Given the description of an element on the screen output the (x, y) to click on. 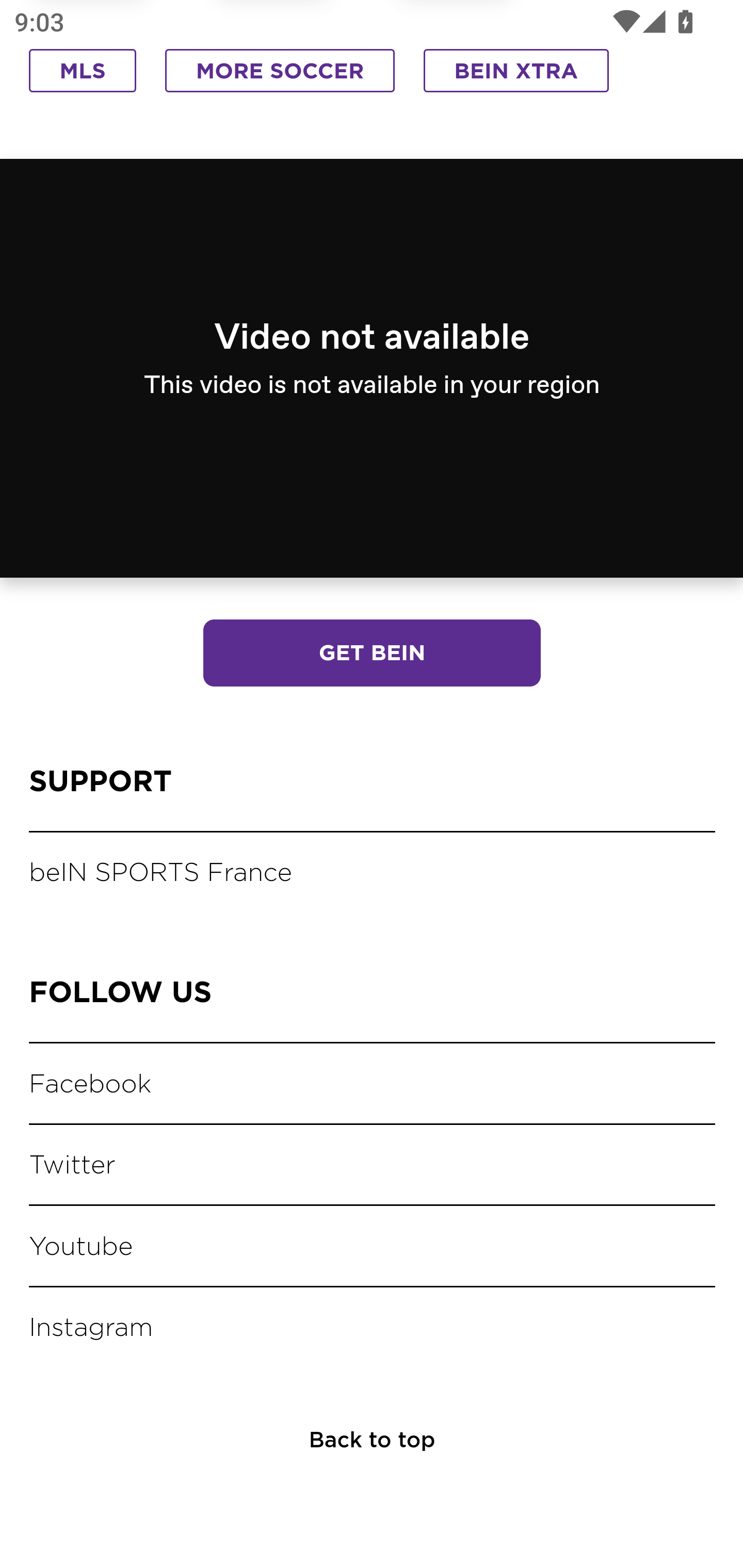
MLS (82, 72)
MORE SOCCER (279, 72)
BEIN XTRA (516, 72)
United States (430, 359)
GET BEIN (371, 654)
beIN SPORTS France (162, 874)
Facebook (92, 1083)
Twitter (74, 1165)
Youtube (82, 1246)
Instagram (93, 1328)
